Given the description of an element on the screen output the (x, y) to click on. 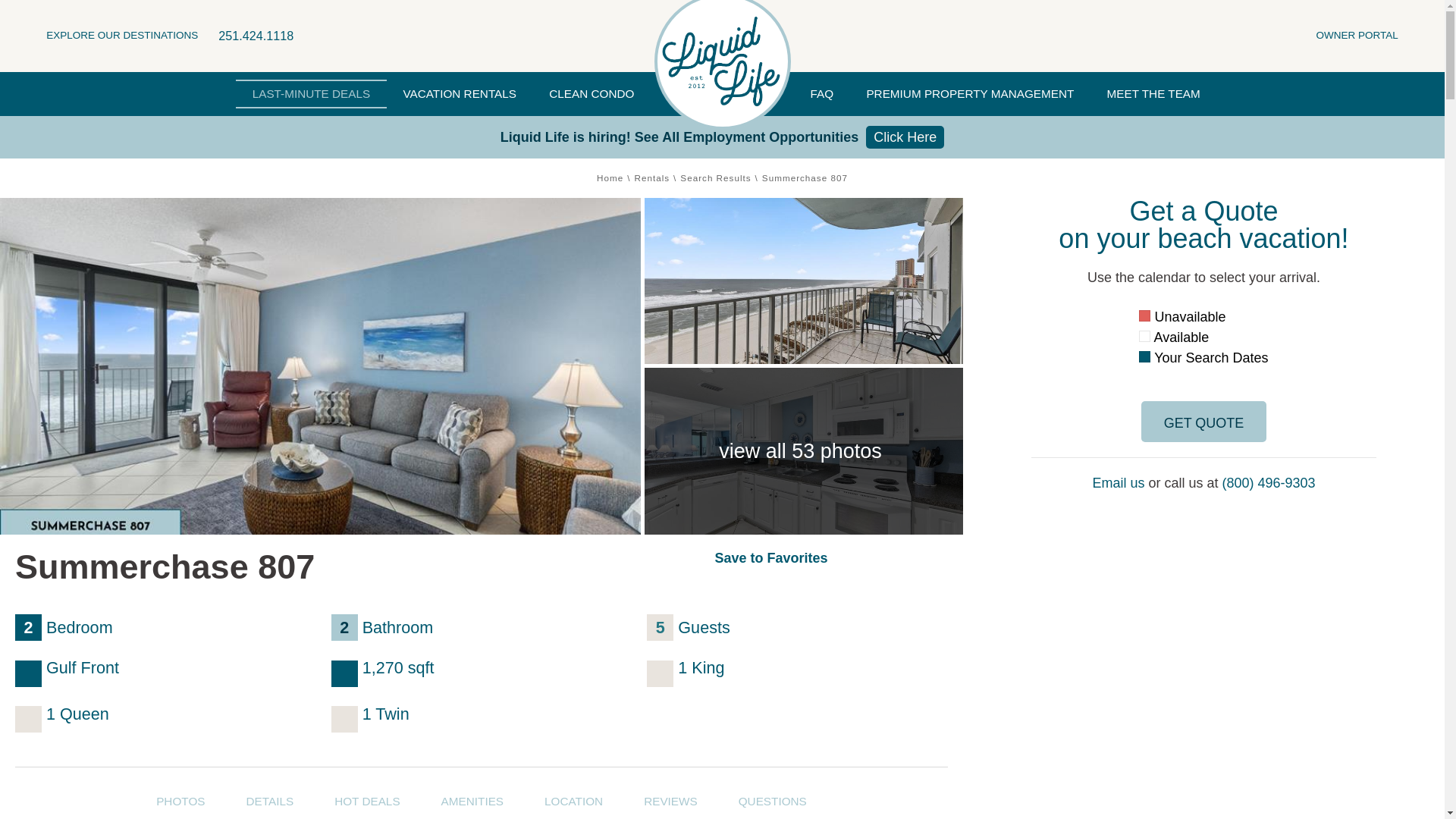
Call us (256, 35)
DETAILS (269, 800)
Home (609, 177)
Save to Favorites (770, 557)
Rentals (651, 177)
EXPLORE OUR DESTINATIONS (122, 35)
Click Here (904, 137)
Search Results (715, 177)
PHOTOS (180, 800)
251.424.1118 (256, 35)
